Given the description of an element on the screen output the (x, y) to click on. 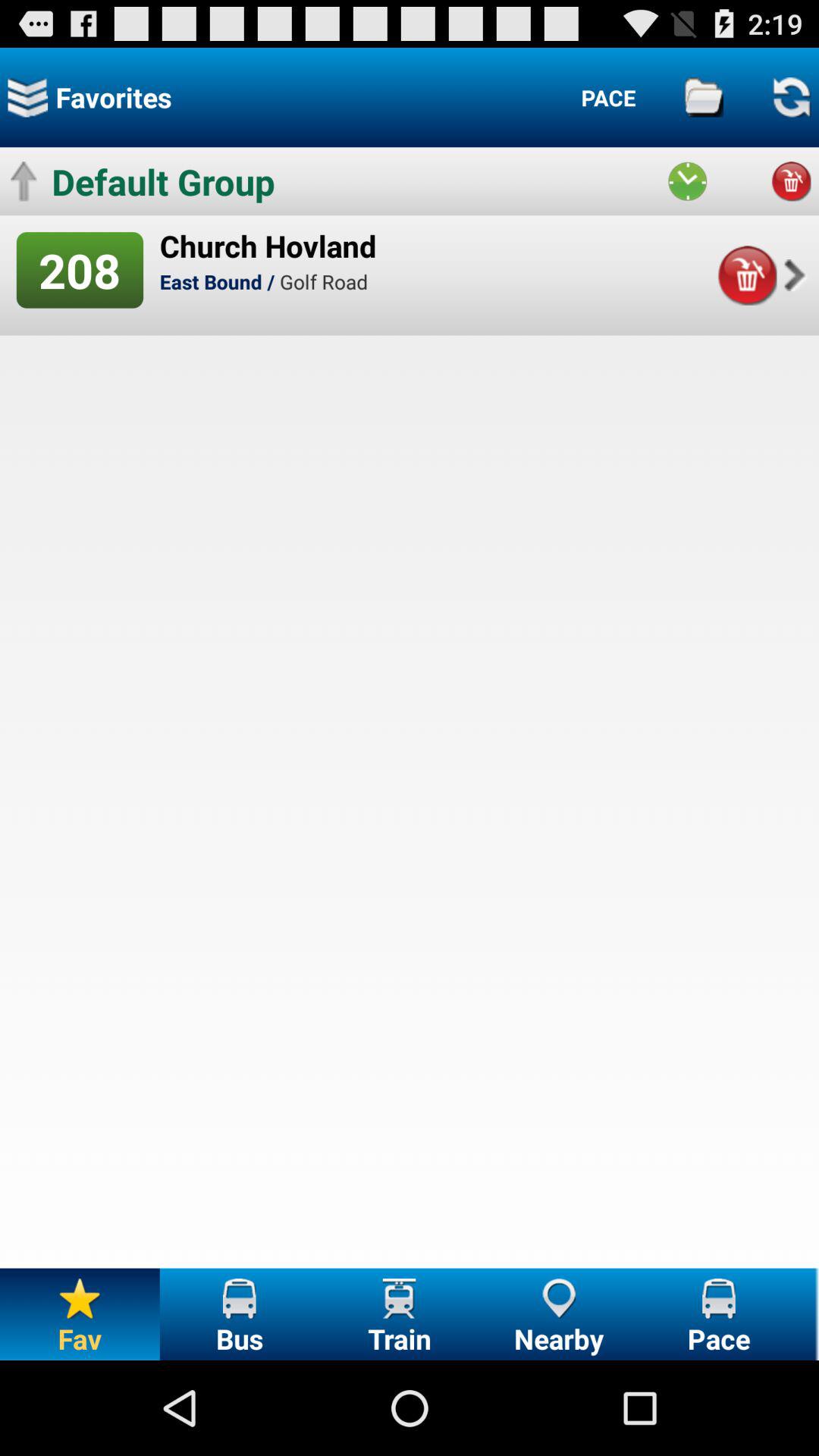
delete fave page (746, 275)
